Given the description of an element on the screen output the (x, y) to click on. 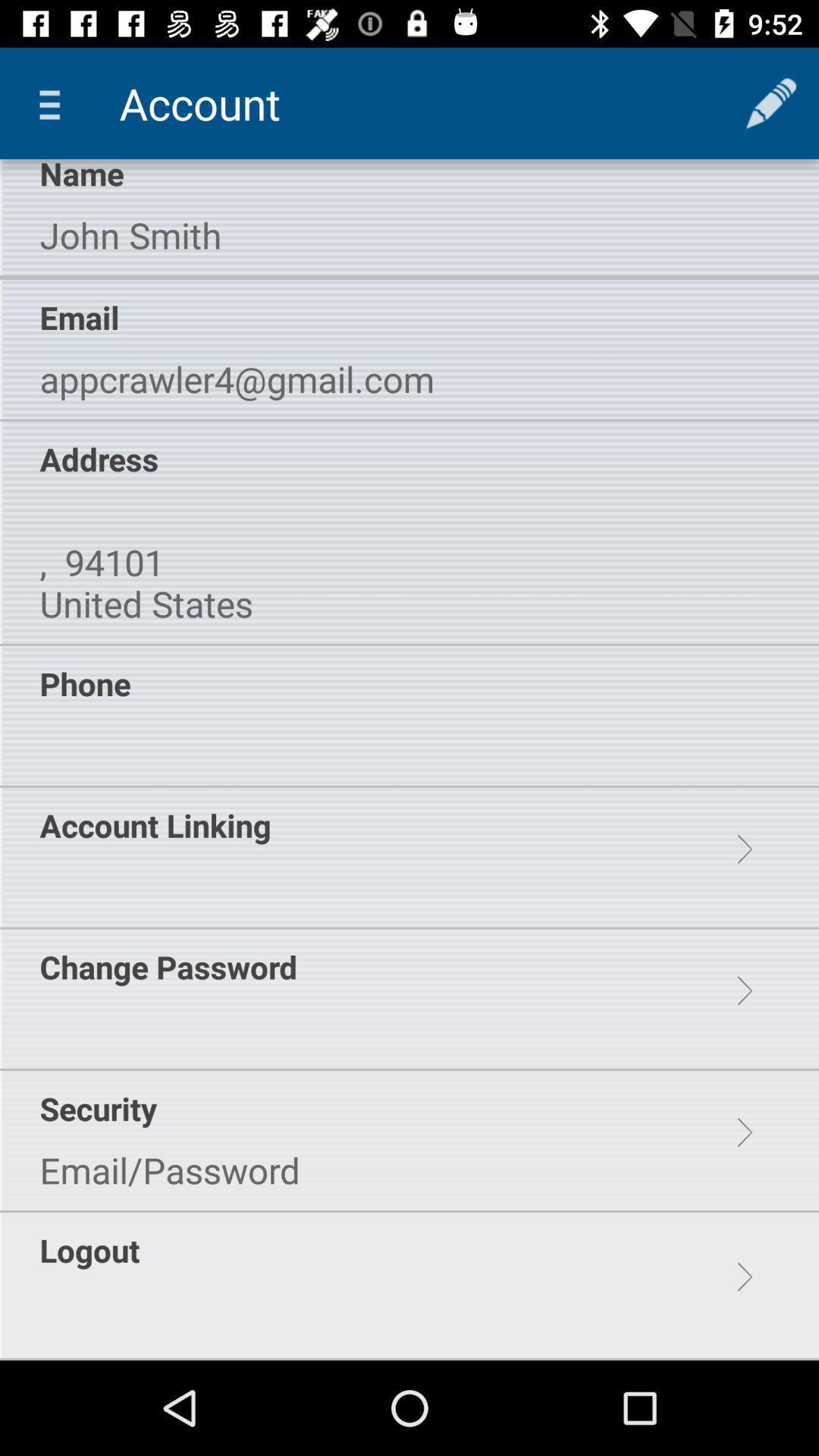
open the icon next to account item (55, 103)
